Given the description of an element on the screen output the (x, y) to click on. 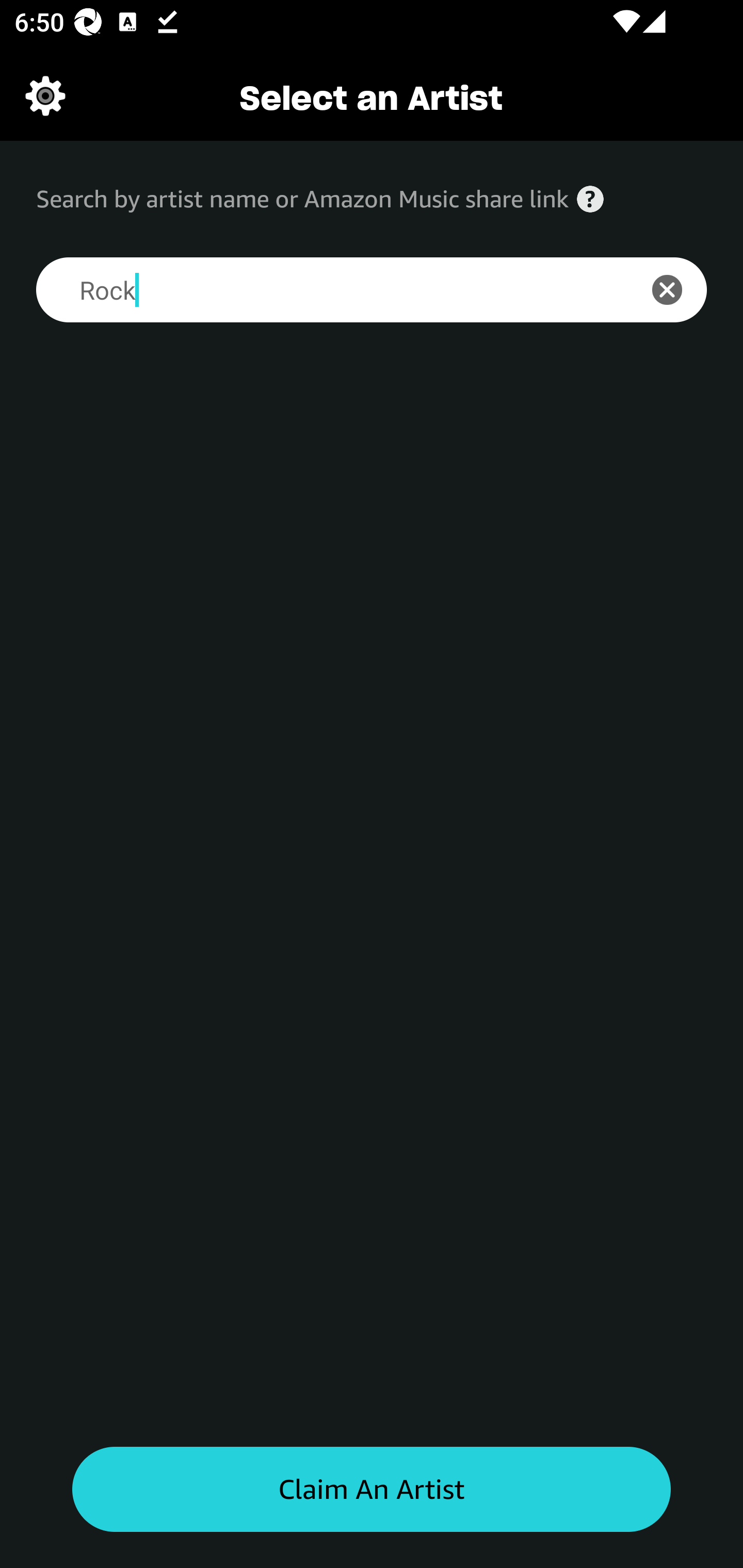
Help  icon (589, 199)
Rock Search for an artist search bar (324, 290)
 icon (677, 290)
Claim an artist button Claim An Artist (371, 1489)
